Given the description of an element on the screen output the (x, y) to click on. 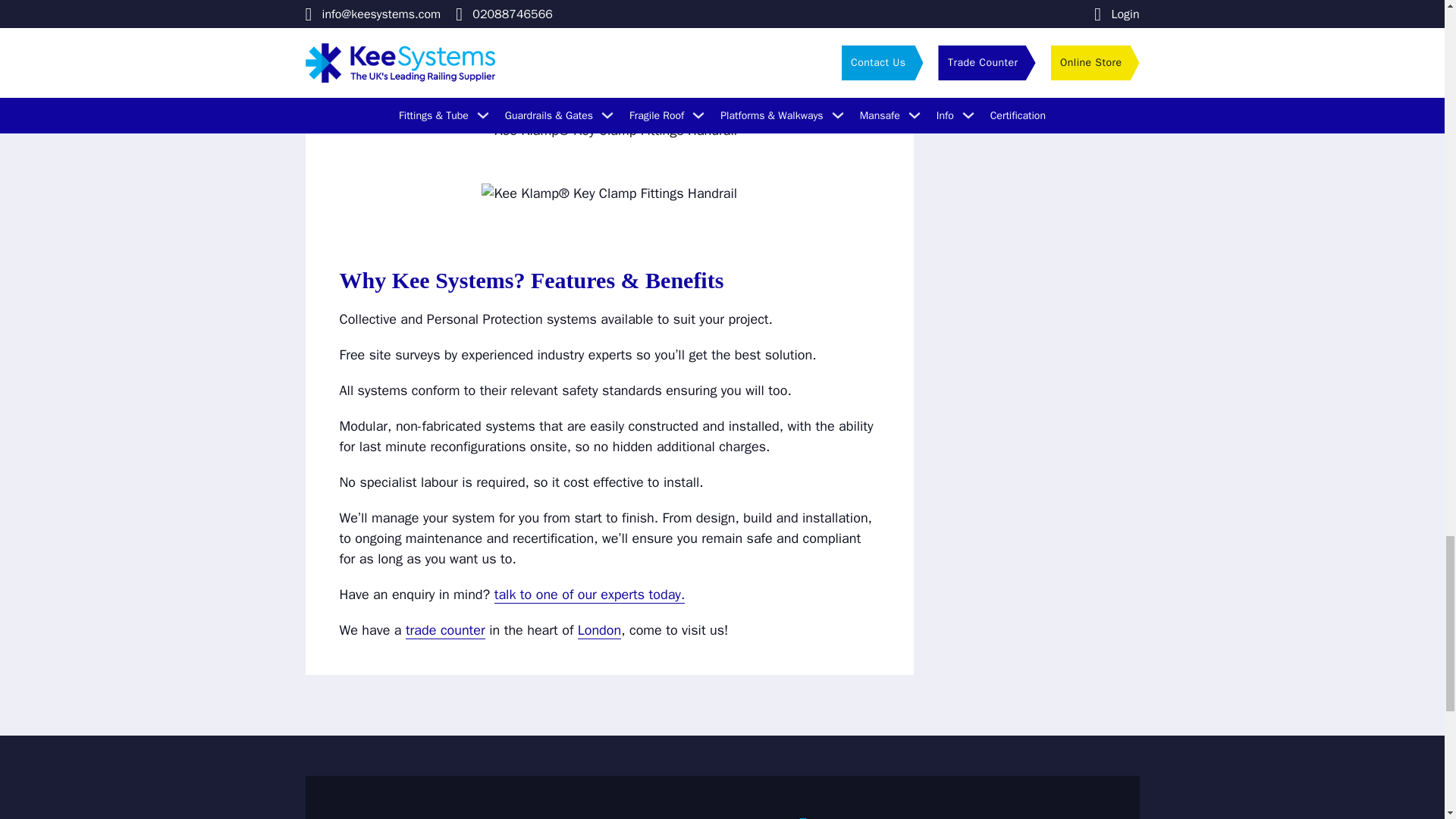
Kee Systems: The One Stop Company for Handrails 5 (608, 193)
Kee Systems: The One Stop Company for Handrails 4 (608, 130)
